Given the description of an element on the screen output the (x, y) to click on. 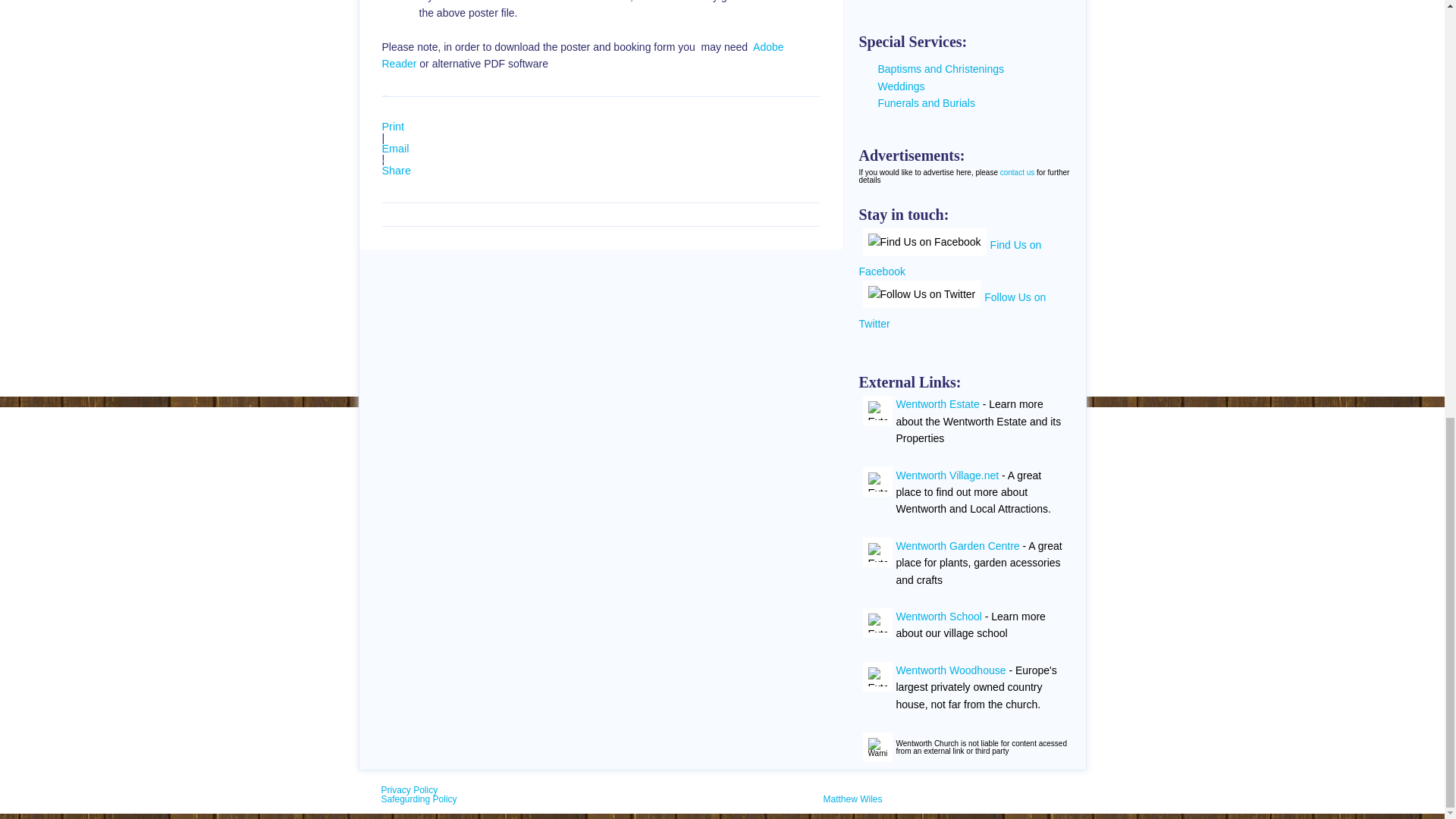
Print (392, 126)
Email (395, 148)
Find Us on Facebook (950, 258)
Wentworth School (877, 623)
Wentworth Estate (937, 404)
Adobe Reader (582, 54)
Wentworth Village (877, 552)
Wentworth Garden Centre (958, 545)
Wentworth Woodhouse (877, 676)
Find Us on Facebook (925, 241)
contact us (1017, 172)
Share (395, 170)
Wentworth Village (877, 481)
Baptisms and Christenings (940, 69)
Follow Us on Twitter (952, 310)
